Given the description of an element on the screen output the (x, y) to click on. 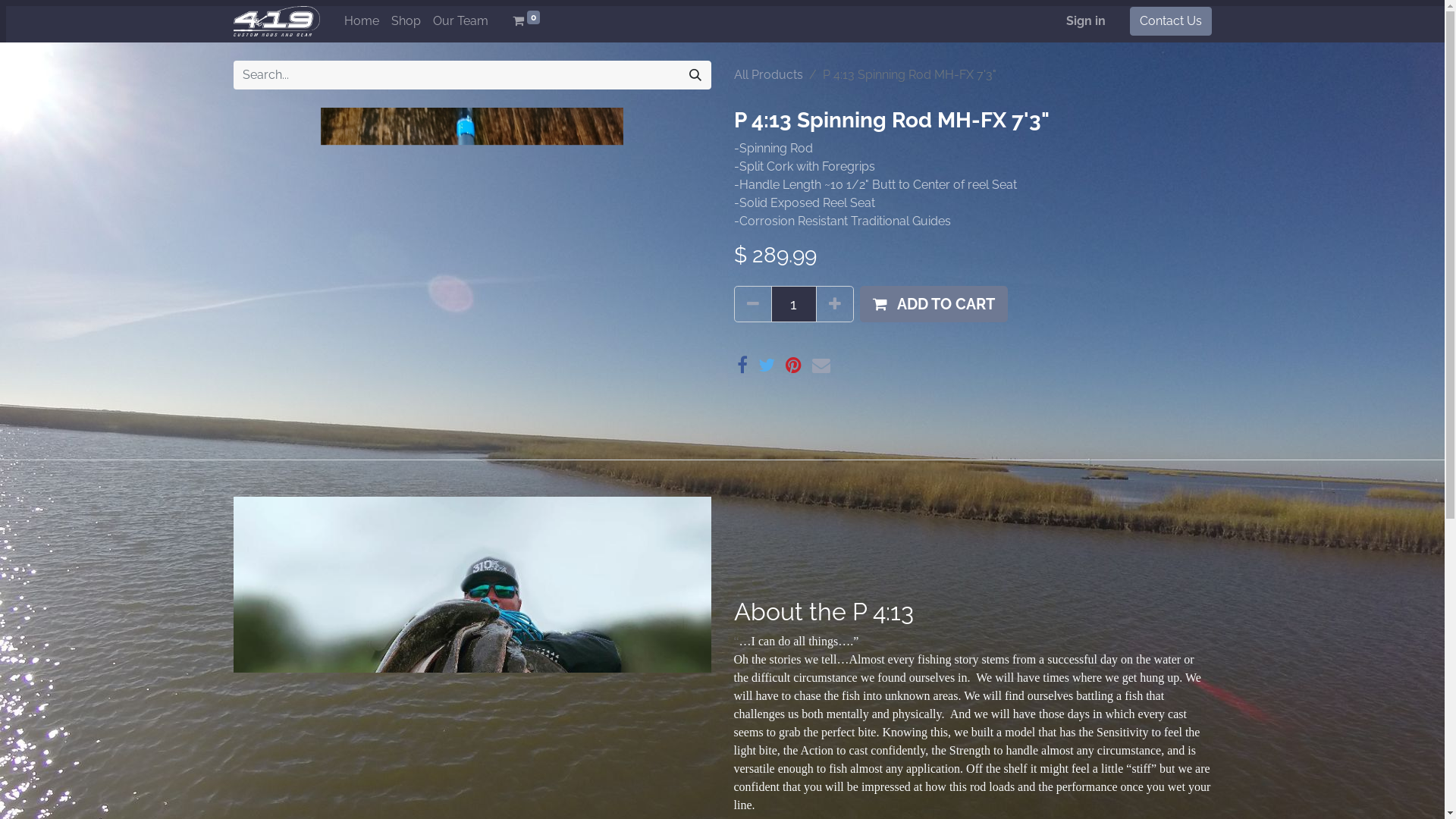
4:19 Custom Rods & Gear LLC Element type: hover (276, 21)
Home Element type: text (361, 21)
Sign in Element type: text (1085, 21)
Shop Element type: text (405, 21)
Search Element type: hover (695, 74)
Add one Element type: hover (834, 303)
0 Element type: text (526, 21)
Remove one Element type: hover (752, 303)
Contact Us Element type: text (1170, 20)
Our Team Element type: text (460, 21)
ADD TO CART Element type: text (933, 303)
All Products Element type: text (768, 74)
